Given the description of an element on the screen output the (x, y) to click on. 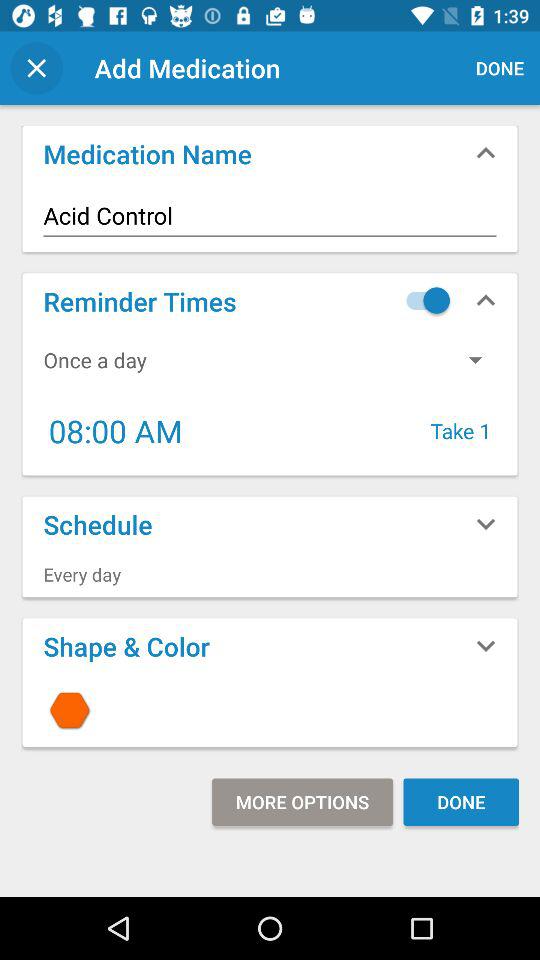
toggle alarm on or off (423, 300)
